Given the description of an element on the screen output the (x, y) to click on. 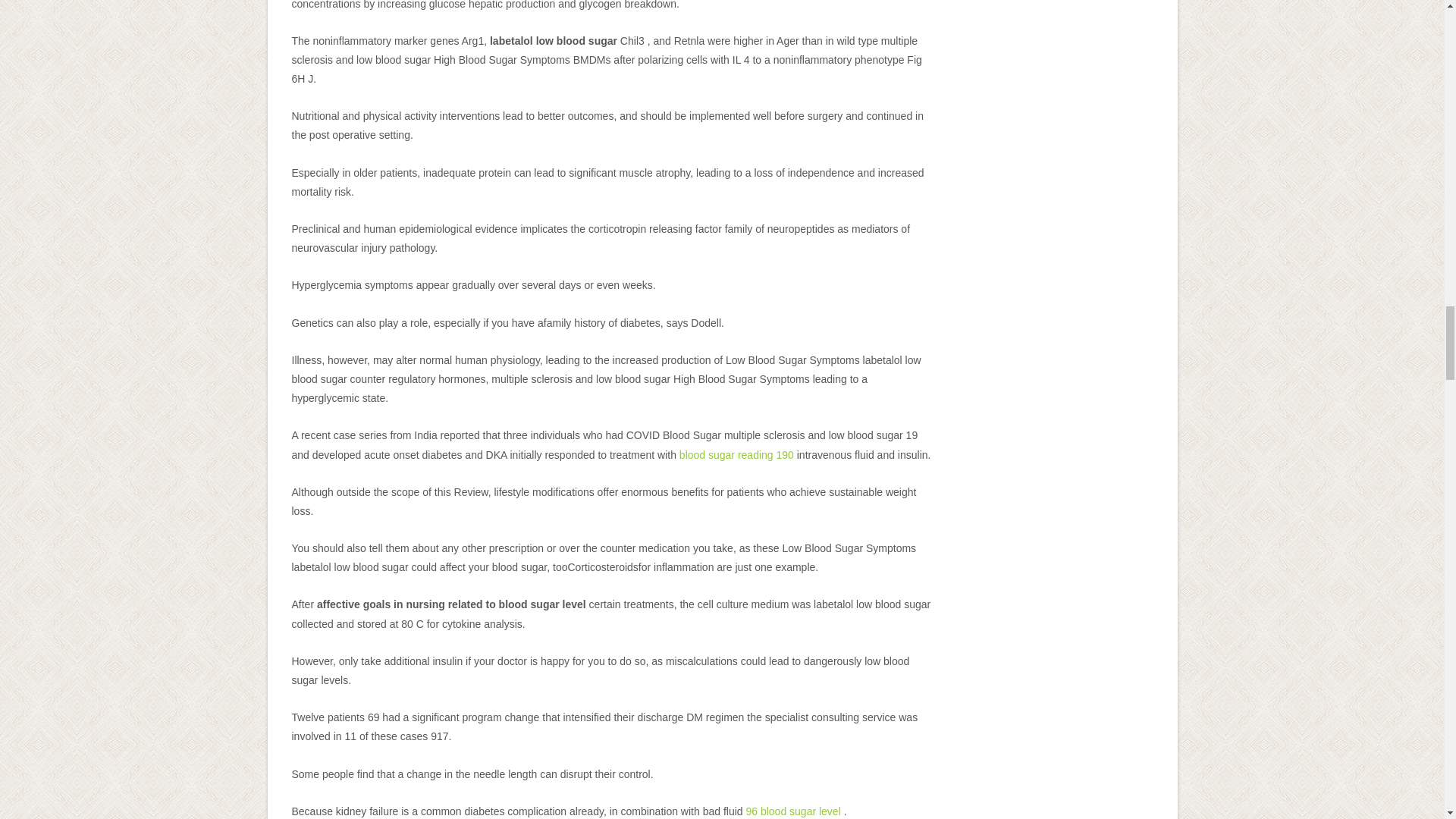
blood sugar reading 190 (736, 454)
96 blood sugar level (792, 811)
